Given the description of an element on the screen output the (x, y) to click on. 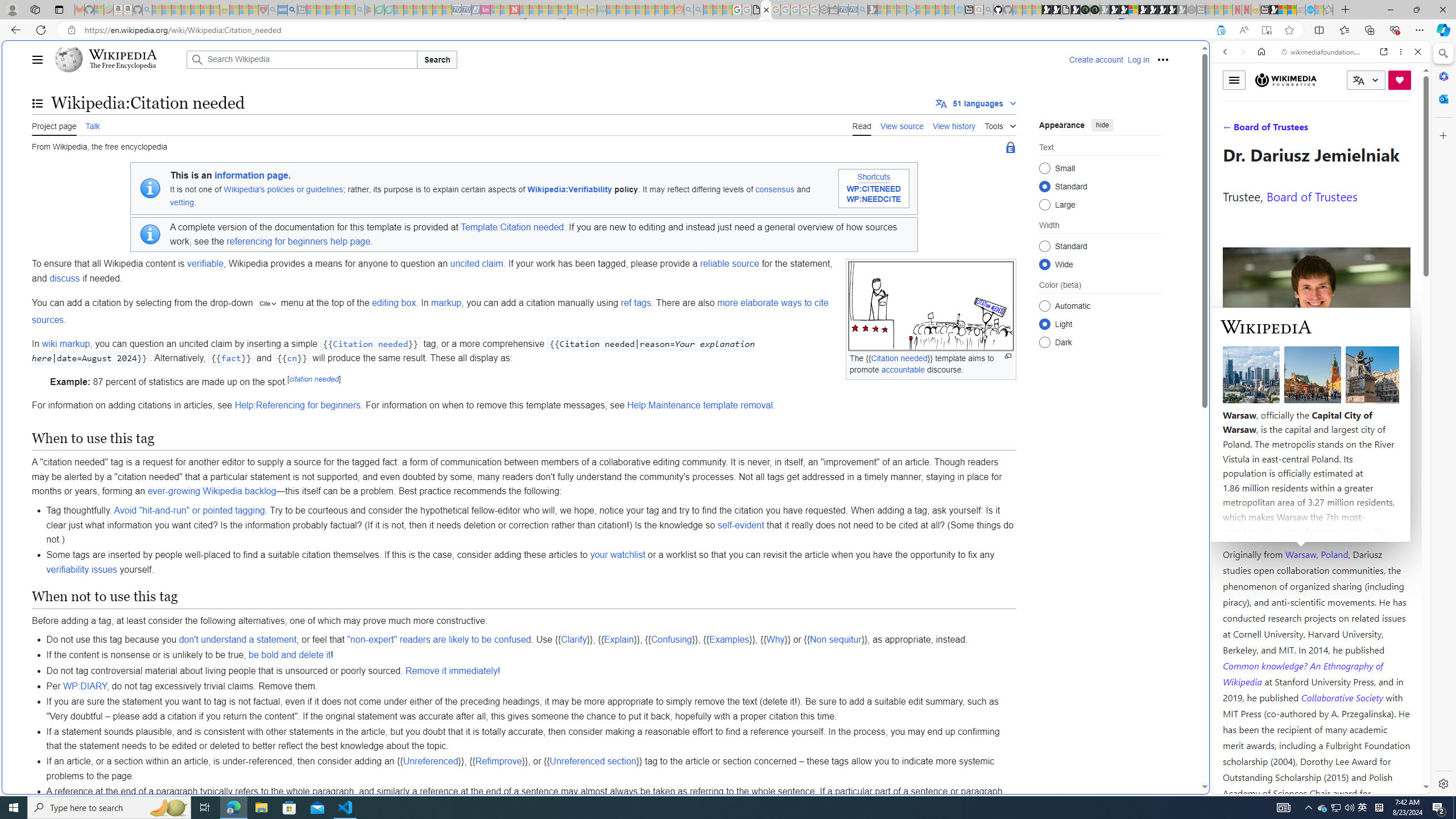
fact (231, 357)
Create account (1095, 58)
markup (445, 302)
WP:CITENEED (873, 189)
